Given the description of an element on the screen output the (x, y) to click on. 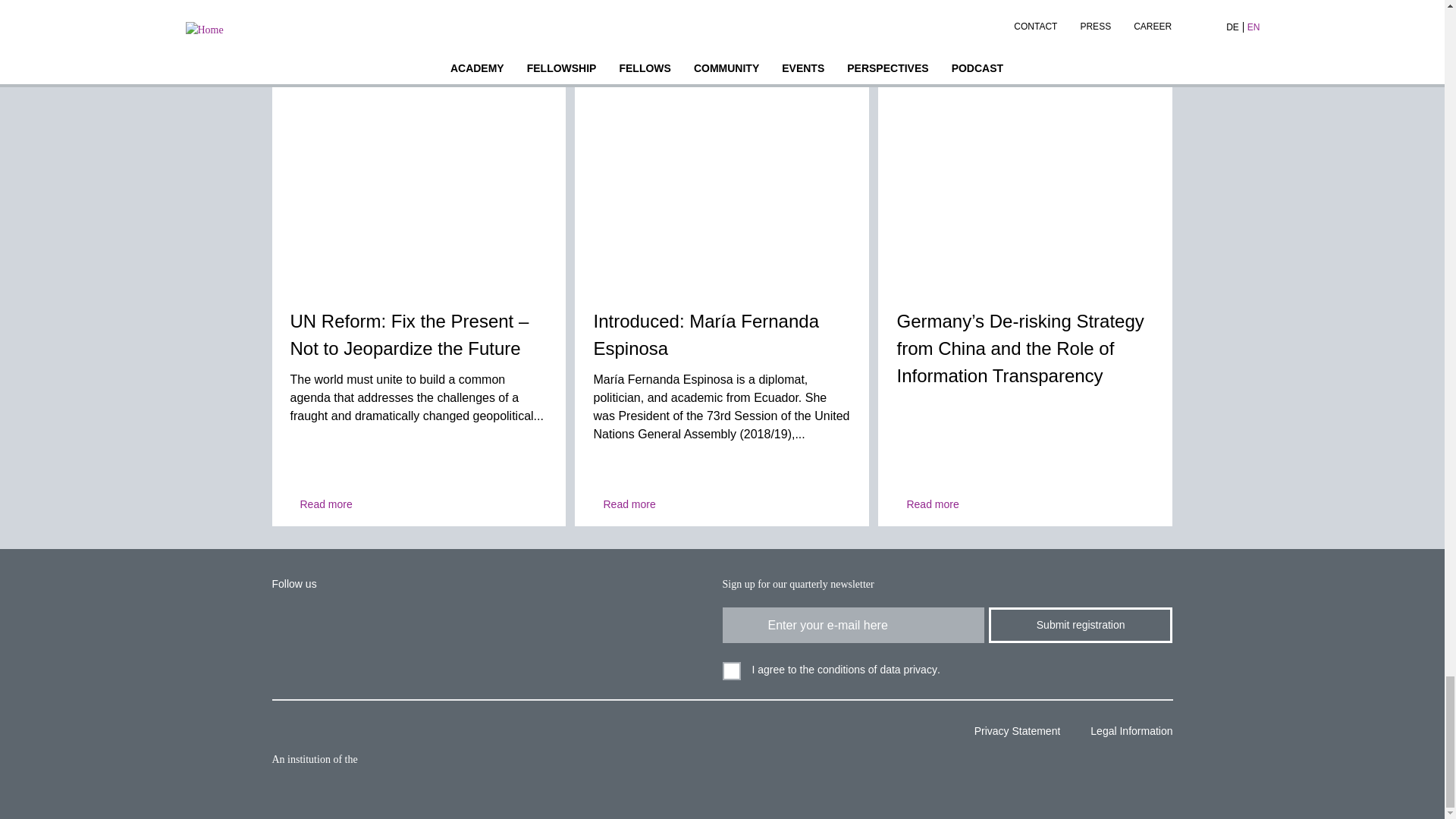
News (418, 178)
Read more (623, 504)
Read more (320, 504)
News (722, 178)
